Given the description of an element on the screen output the (x, y) to click on. 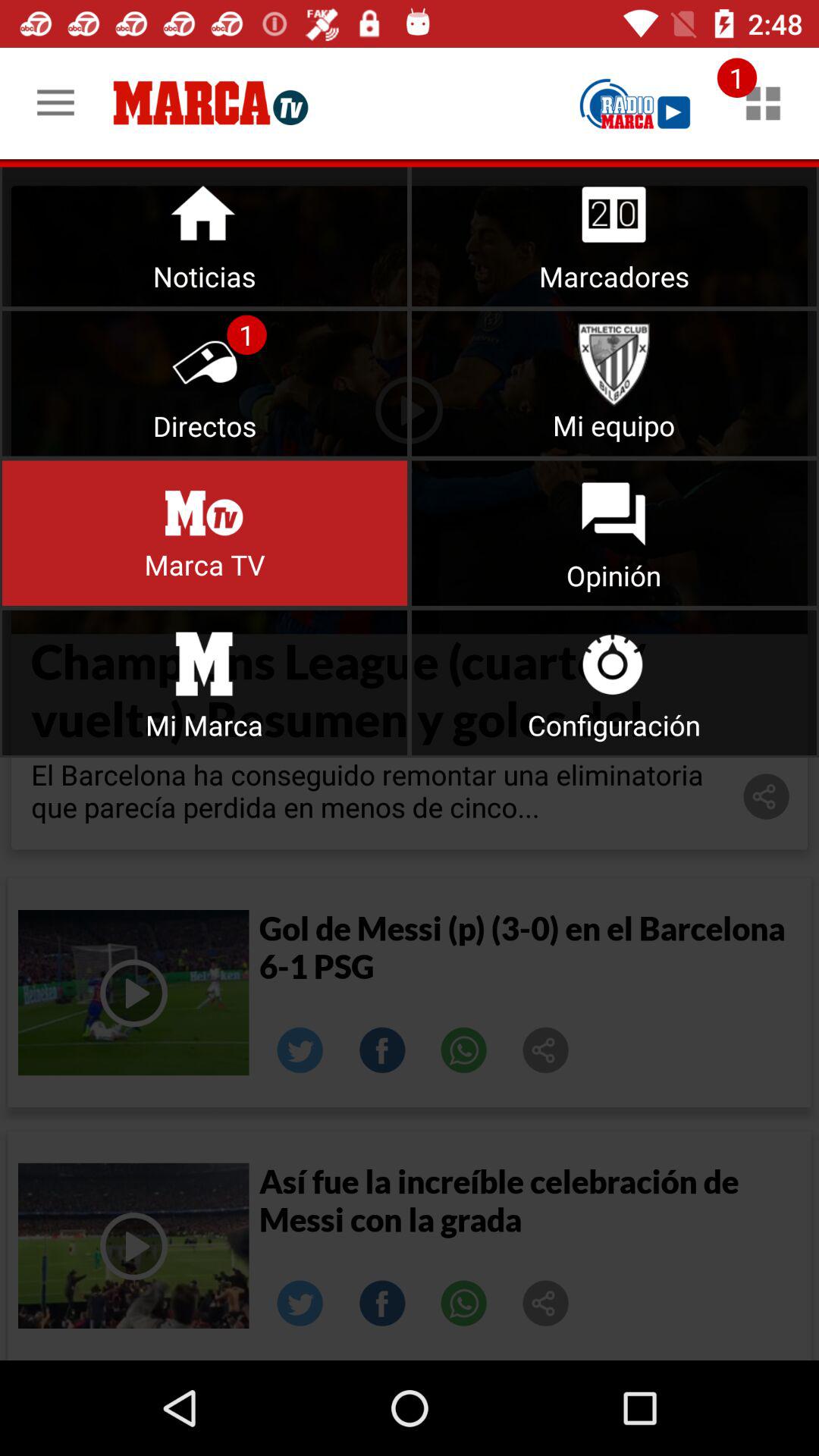
play marca tv option (204, 532)
